Given the description of an element on the screen output the (x, y) to click on. 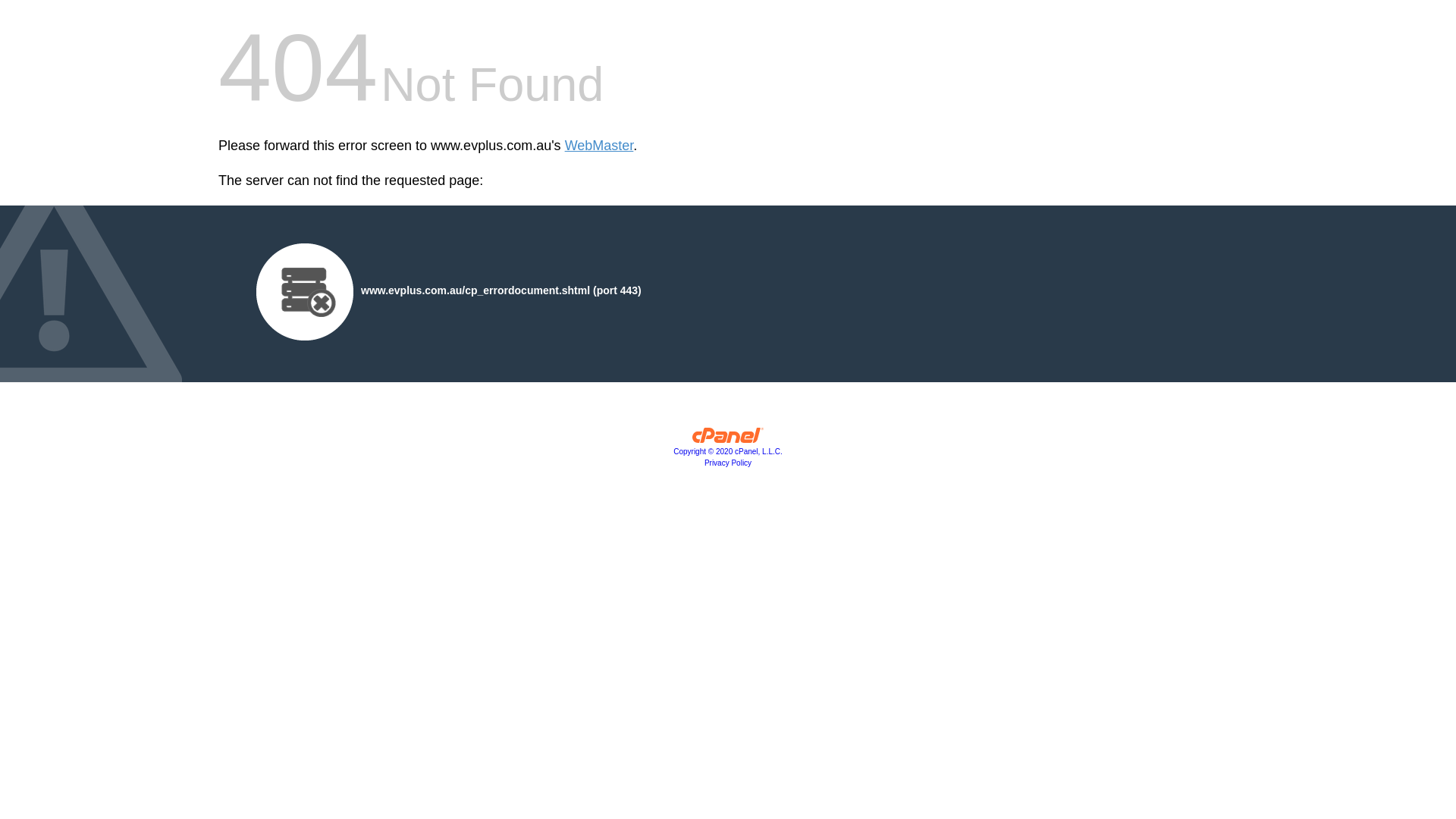
cPanel, Inc. Element type: hover (728, 439)
WebMaster Element type: text (598, 145)
Privacy Policy Element type: text (727, 462)
